Given the description of an element on the screen output the (x, y) to click on. 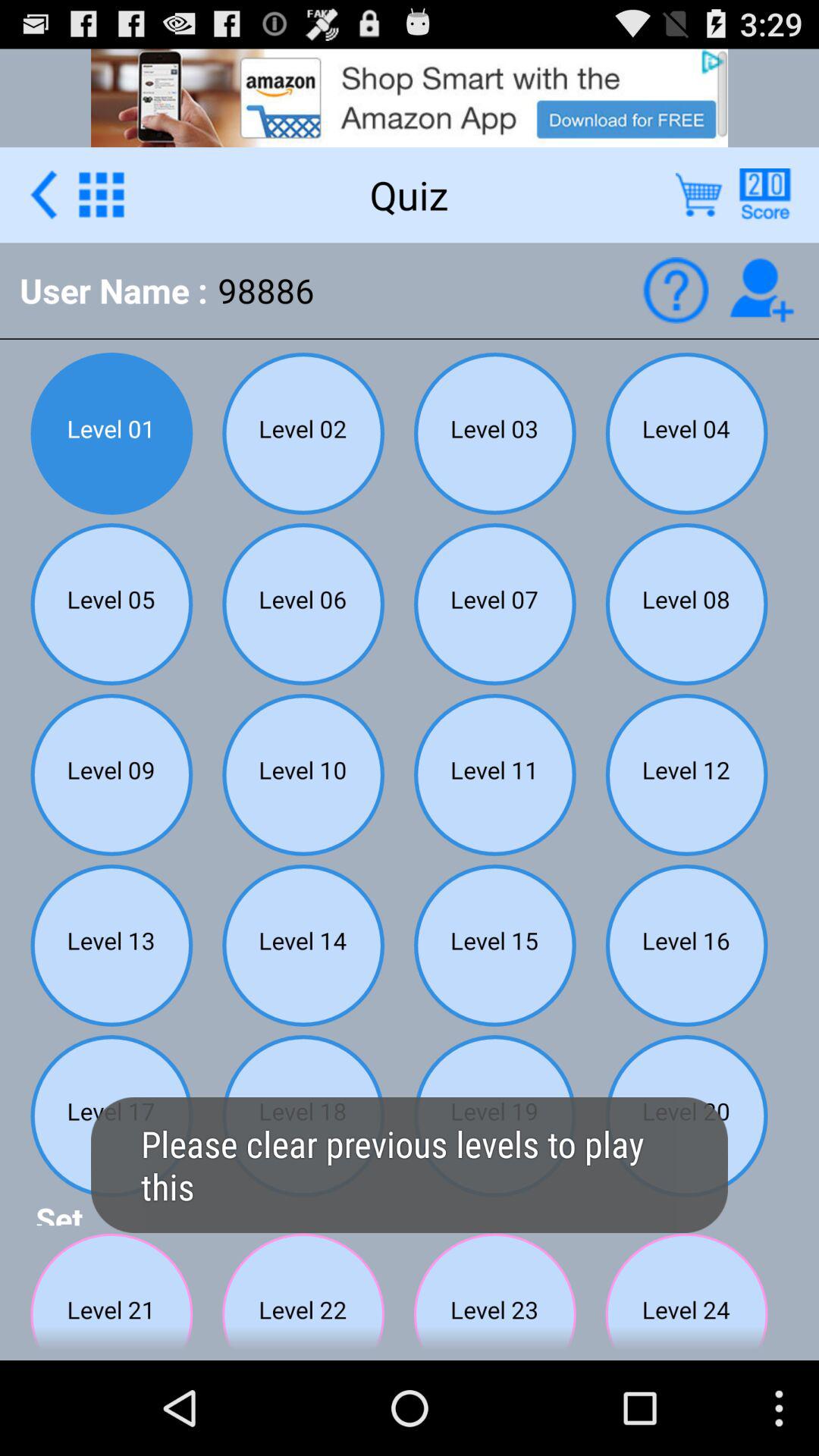
view score (764, 194)
